Given the description of an element on the screen output the (x, y) to click on. 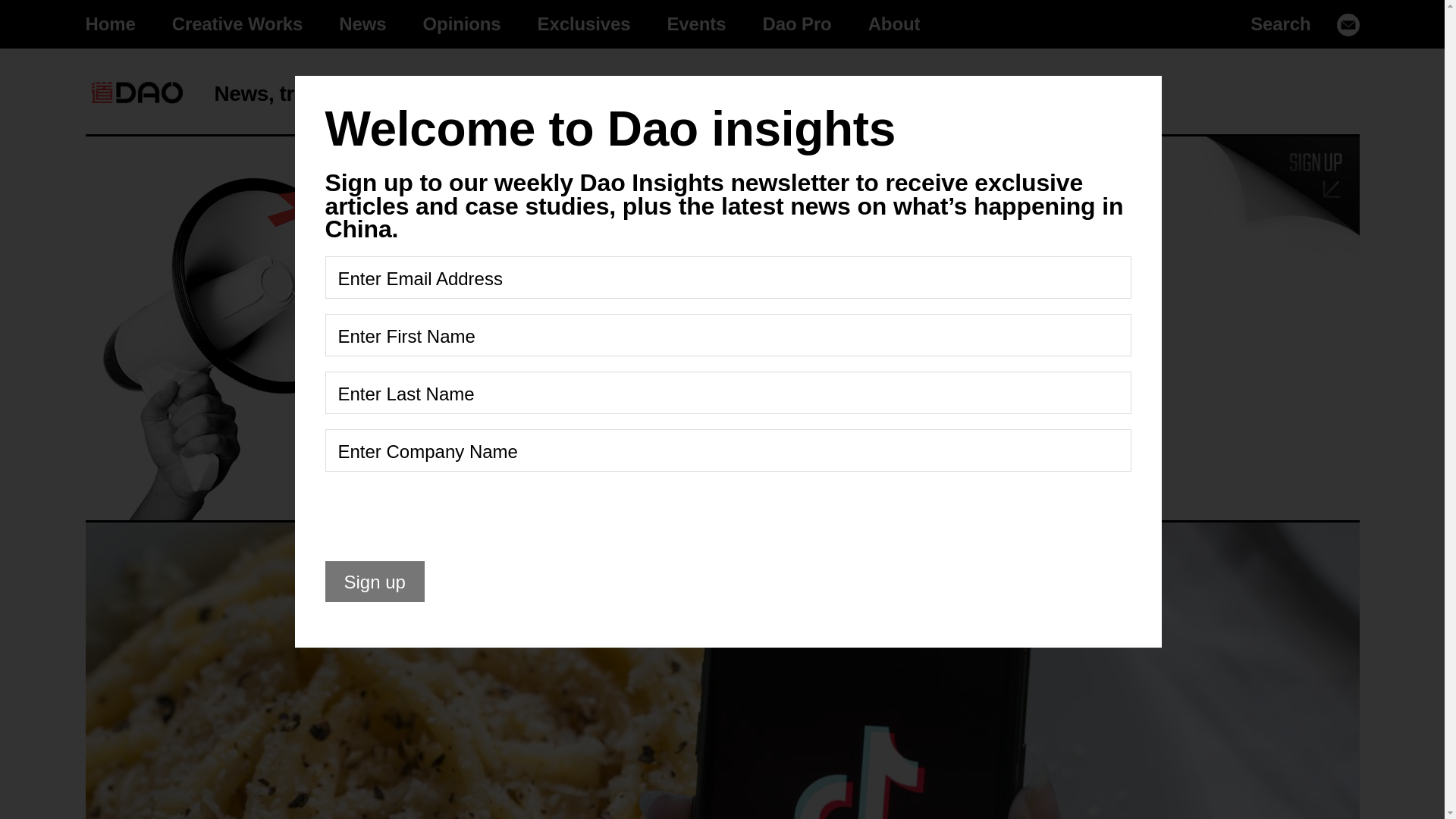
Opinions (461, 24)
reCAPTCHA (439, 516)
Exclusives (584, 24)
About (894, 24)
Dao Insights (136, 92)
Search (1279, 24)
Sign up (956, 318)
Sign up (109, 24)
Sign up (956, 318)
